Given the description of an element on the screen output the (x, y) to click on. 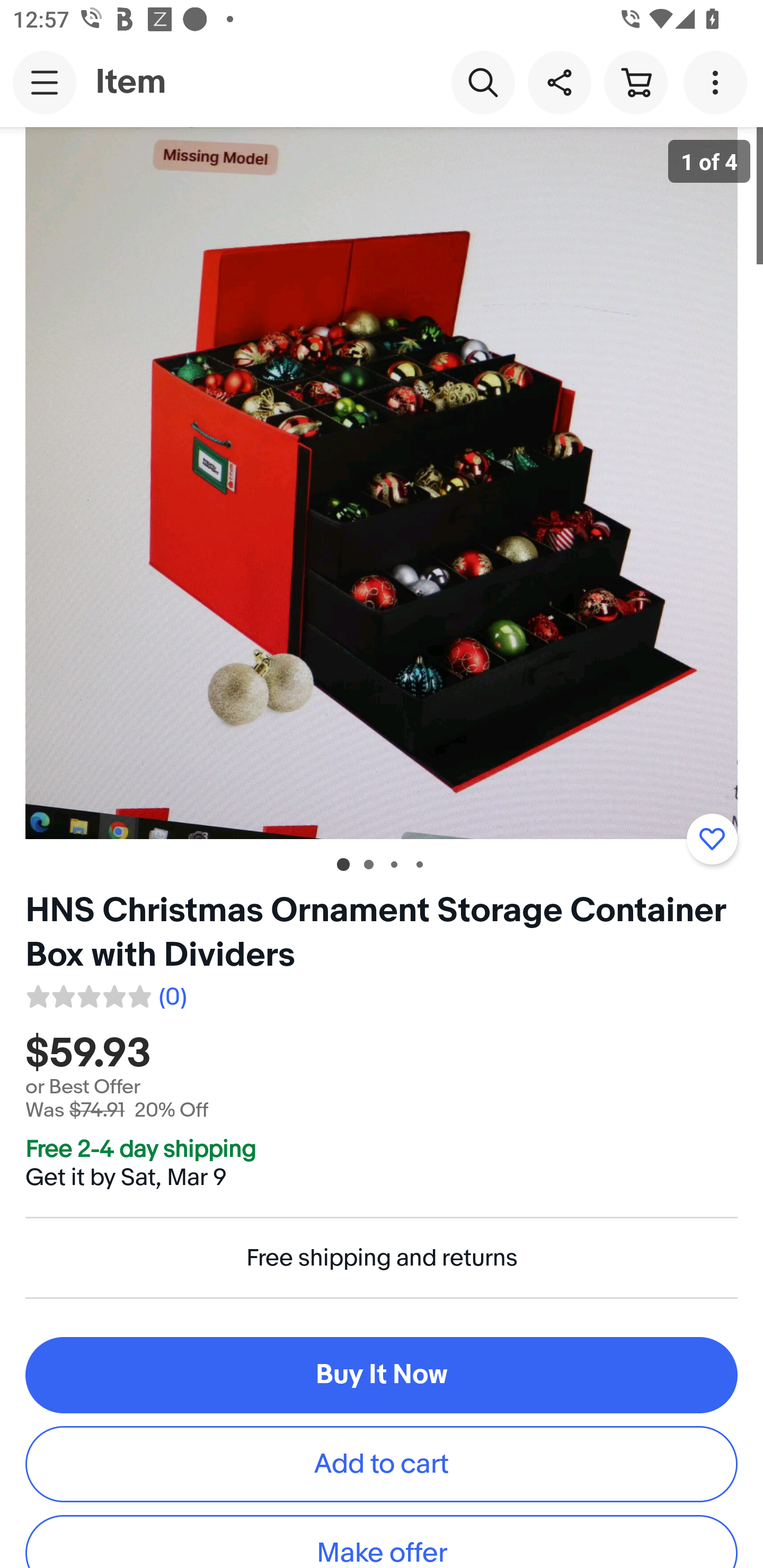
Main navigation, open (44, 82)
Search (482, 81)
Share this item (559, 81)
Cart button shopping cart (635, 81)
More options (718, 81)
Item image 1 of 4 (381, 482)
Add to watchlist (711, 838)
0 reviews. Average rating 0.0 out of five 0.0 (0) (105, 993)
Buy It Now (381, 1374)
Add to cart (381, 1463)
Make offer (381, 1541)
